Given the description of an element on the screen output the (x, y) to click on. 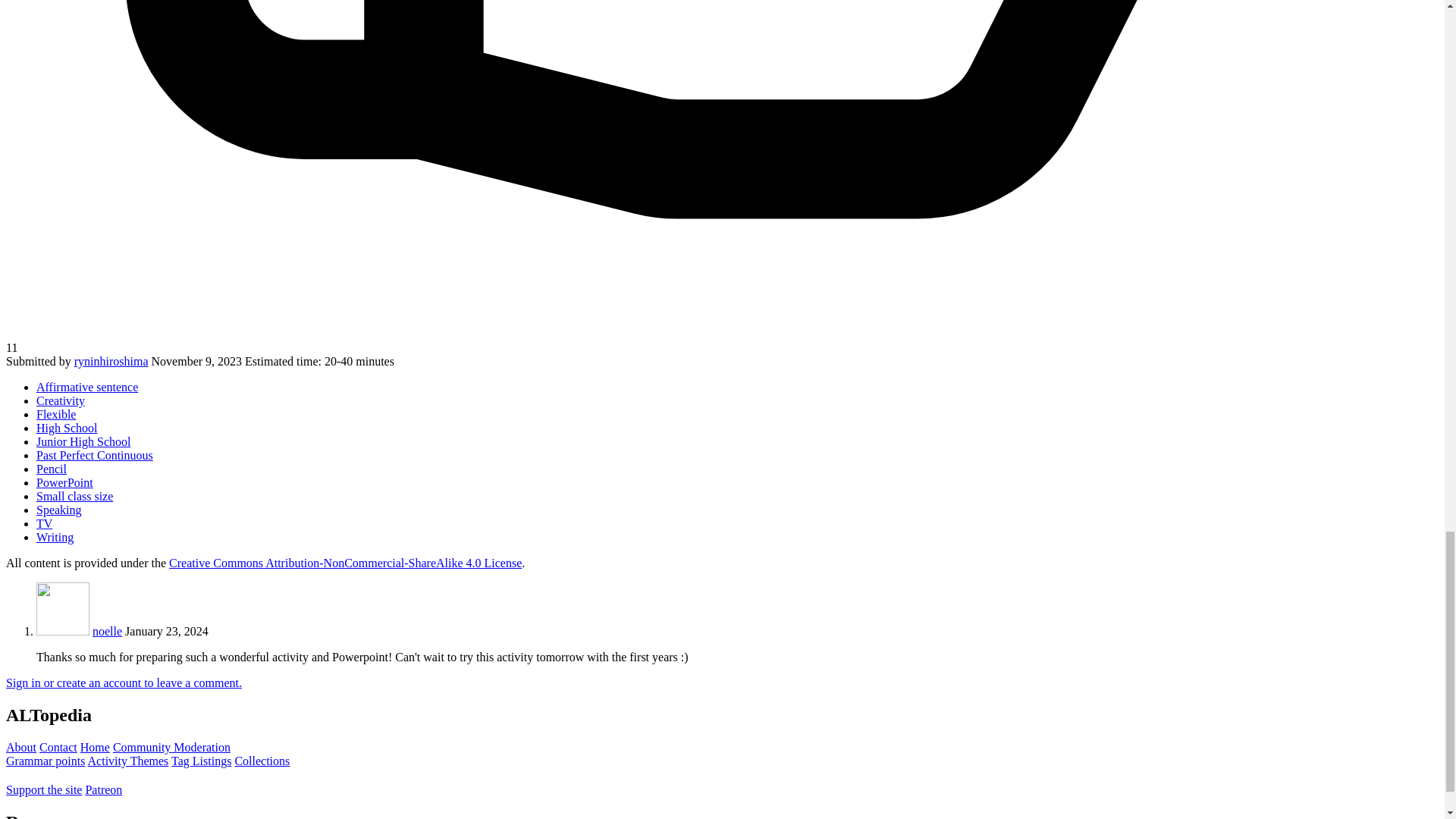
TV (44, 522)
Speaking (58, 509)
Tag Listings (201, 760)
Community Moderation (171, 747)
Patreon (103, 789)
Contact (58, 747)
Writing (55, 536)
noelle (107, 631)
Support the site (43, 789)
Affirmative sentence (87, 386)
Past Perfect Continuous (94, 454)
Activity Themes (127, 760)
Pencil (51, 468)
Sign in or create an account to leave a comment. (123, 682)
Flexible (55, 413)
